Given the description of an element on the screen output the (x, y) to click on. 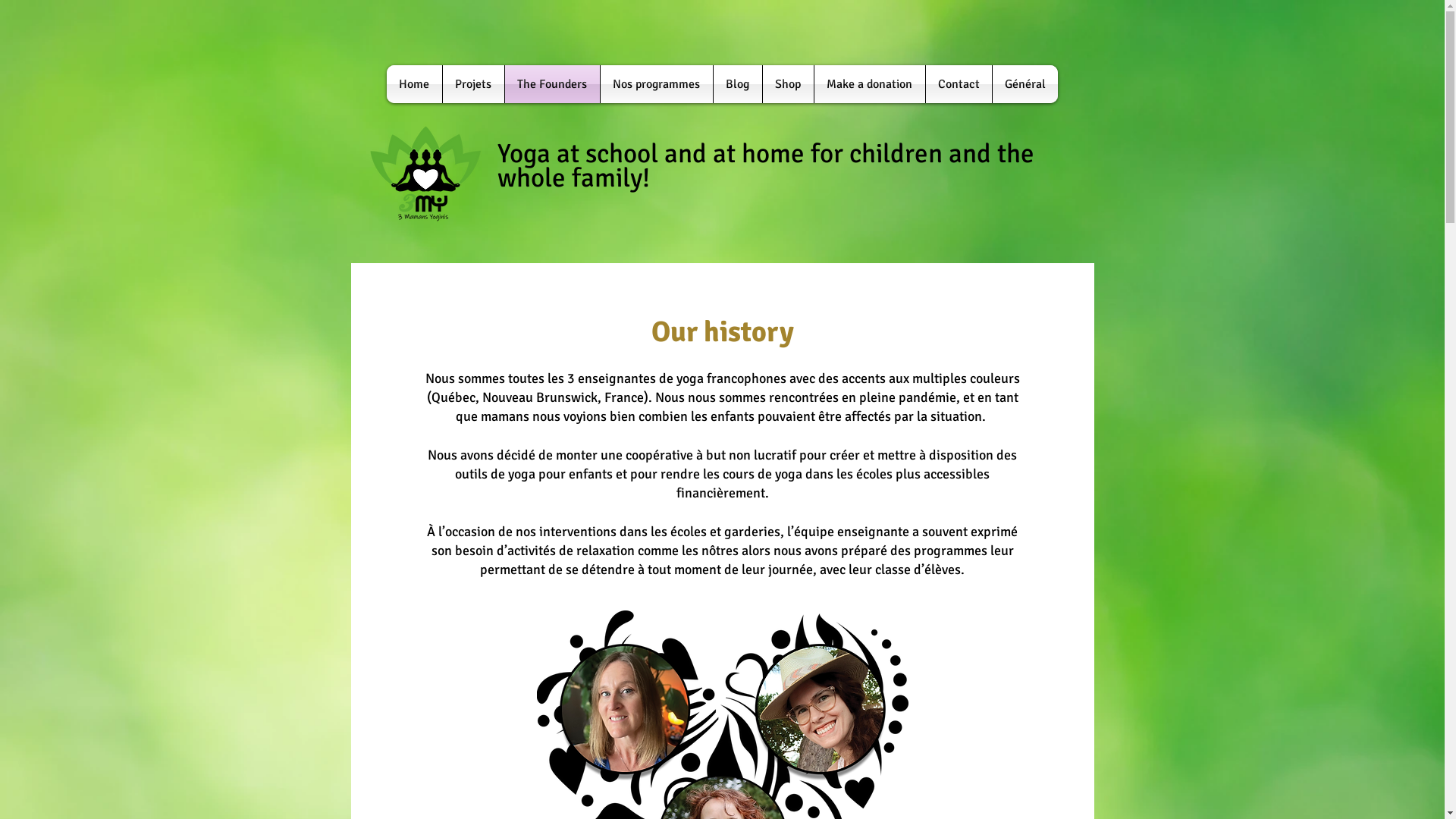
Contact Element type: text (958, 84)
Projets Element type: text (473, 84)
Shop Element type: text (787, 84)
Nos programmes Element type: text (656, 84)
The Founders Element type: text (552, 84)
Blog Element type: text (736, 84)
Make a donation Element type: text (869, 84)
Home Element type: text (414, 84)
